Given the description of an element on the screen output the (x, y) to click on. 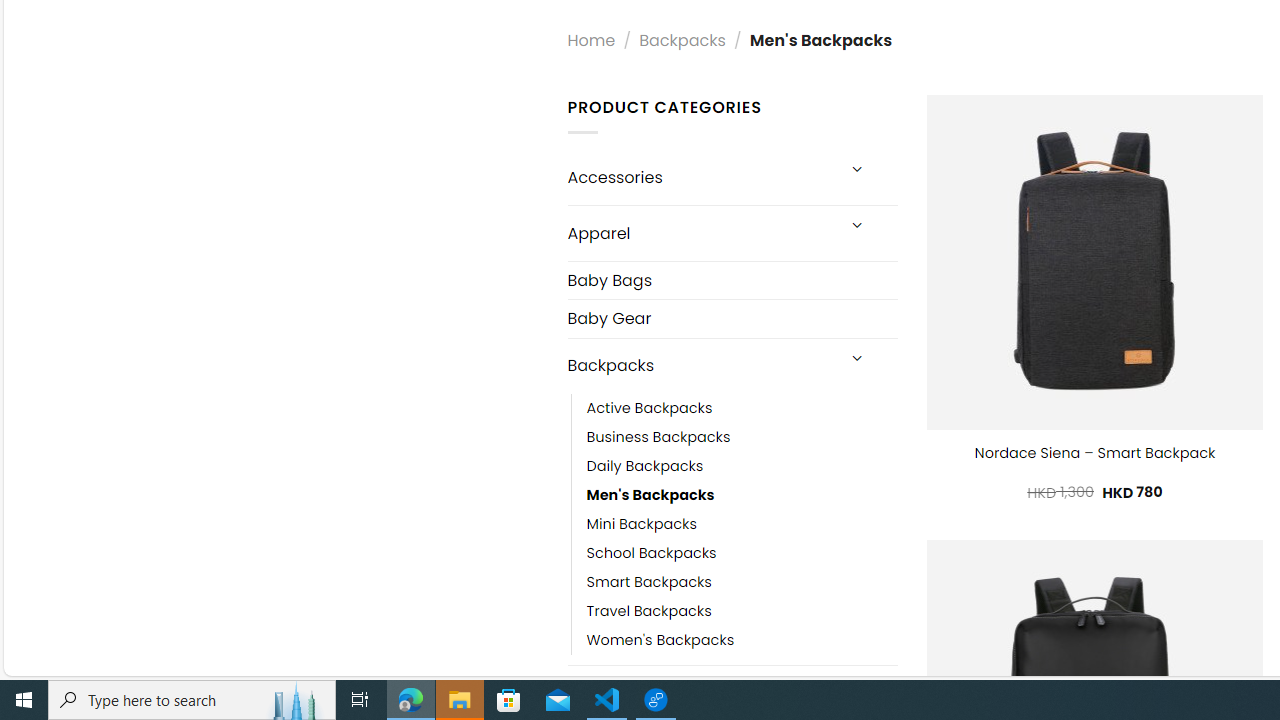
Baby Bags (732, 279)
Baby Bags (732, 280)
